Given the description of an element on the screen output the (x, y) to click on. 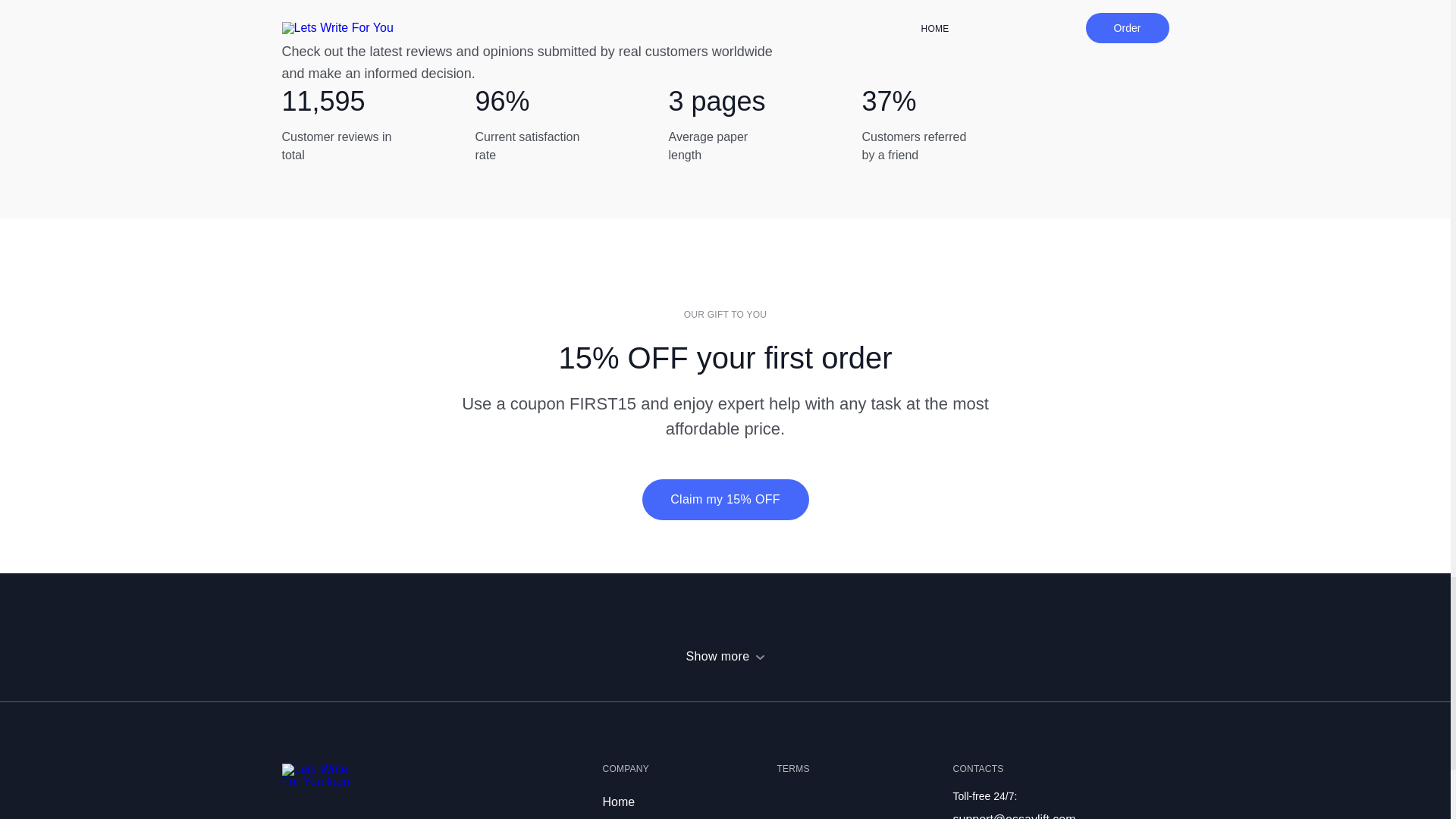
Home (618, 801)
Show more (725, 656)
